Given the description of an element on the screen output the (x, y) to click on. 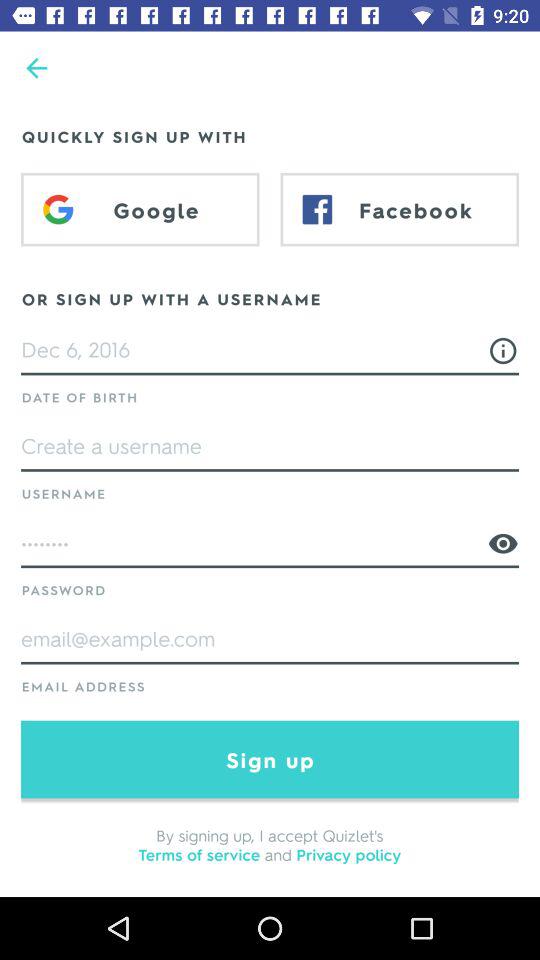
flip to the google (140, 209)
